Given the description of an element on the screen output the (x, y) to click on. 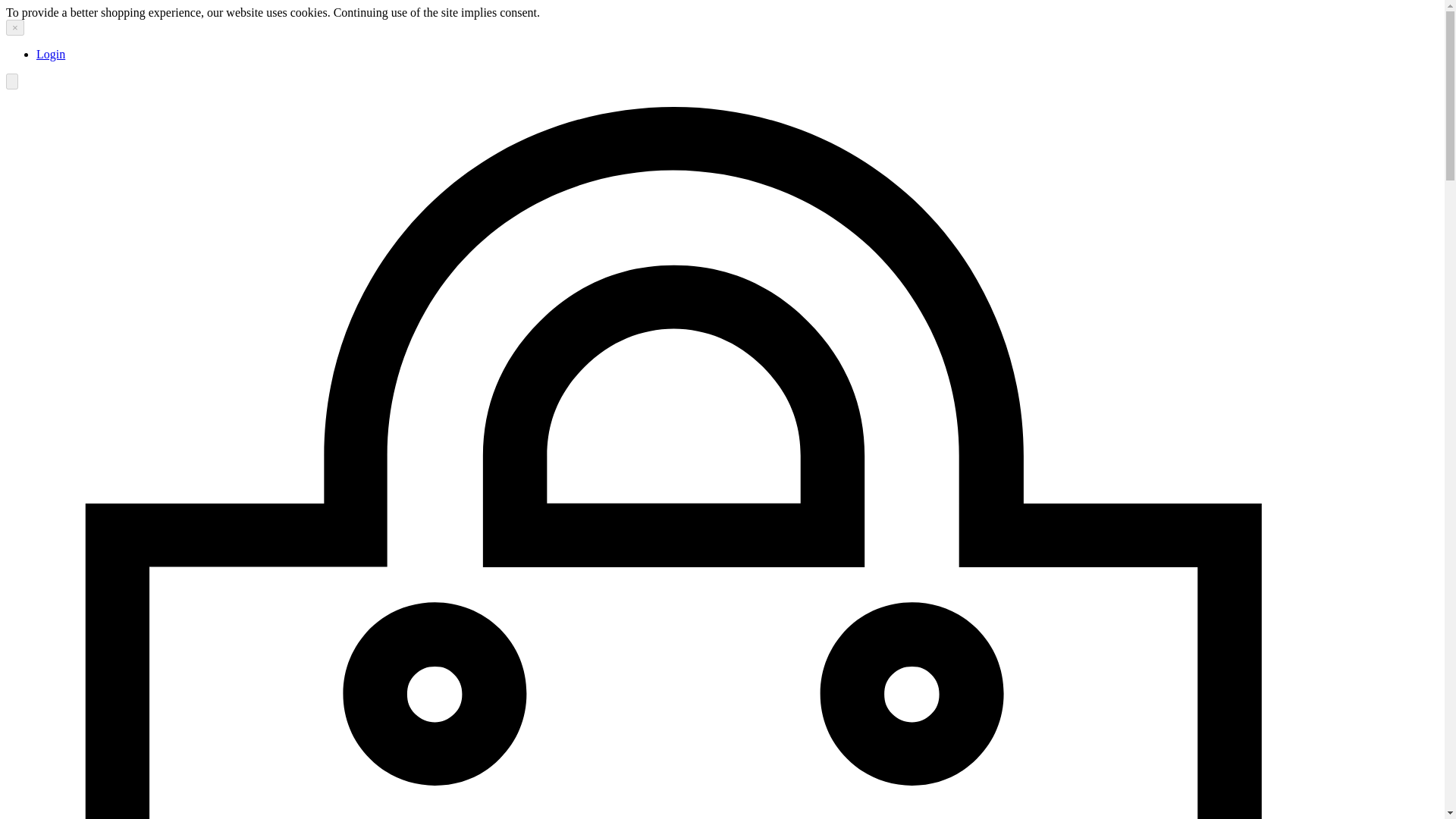
Login (50, 53)
